Given the description of an element on the screen output the (x, y) to click on. 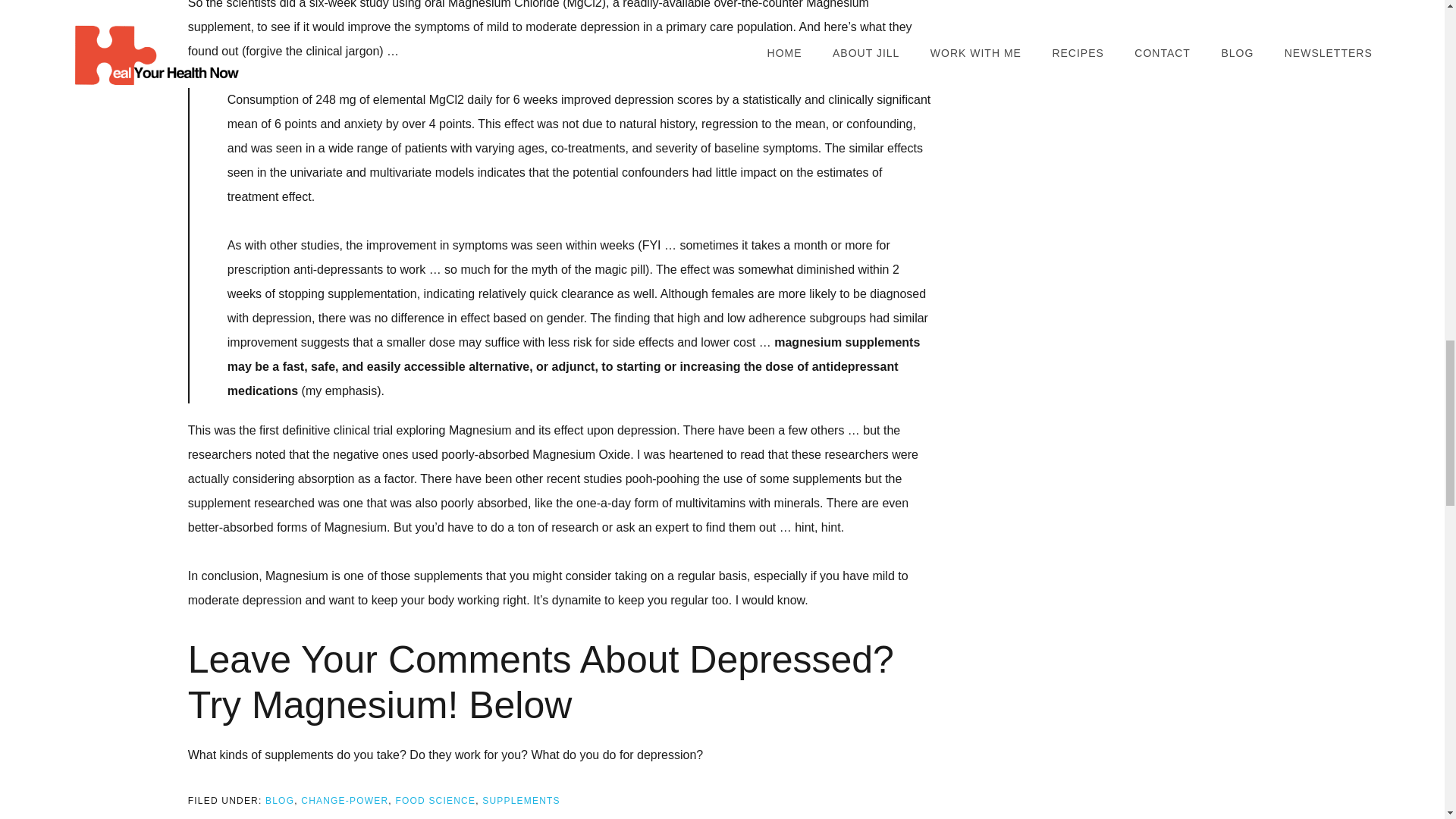
SUPPLEMENTS (520, 800)
BLOG (279, 800)
FOOD SCIENCE (435, 800)
CHANGE-POWER (344, 800)
